Given the description of an element on the screen output the (x, y) to click on. 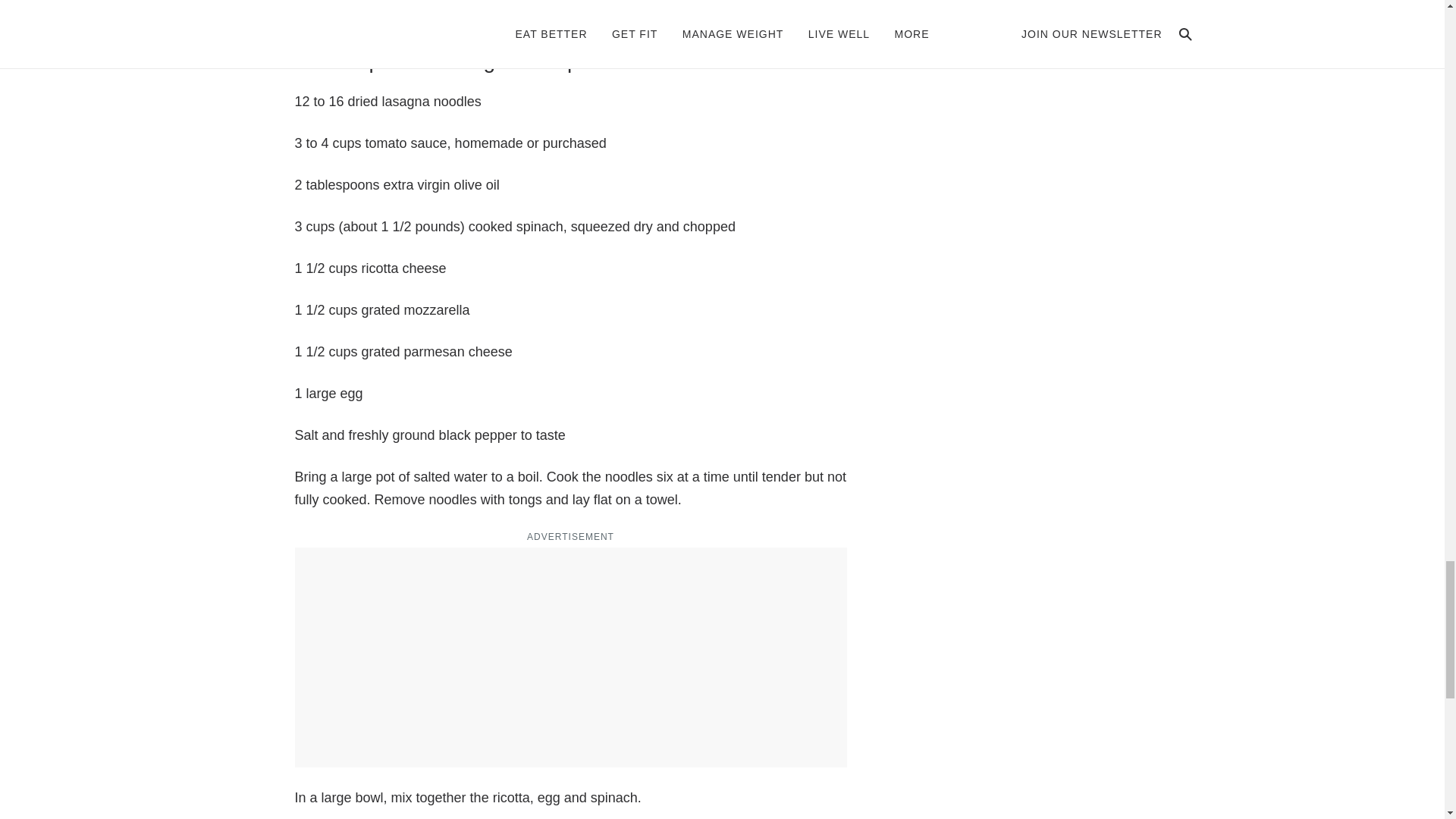
List of Dark Leafy Green Vegetables (479, 6)
